Given the description of an element on the screen output the (x, y) to click on. 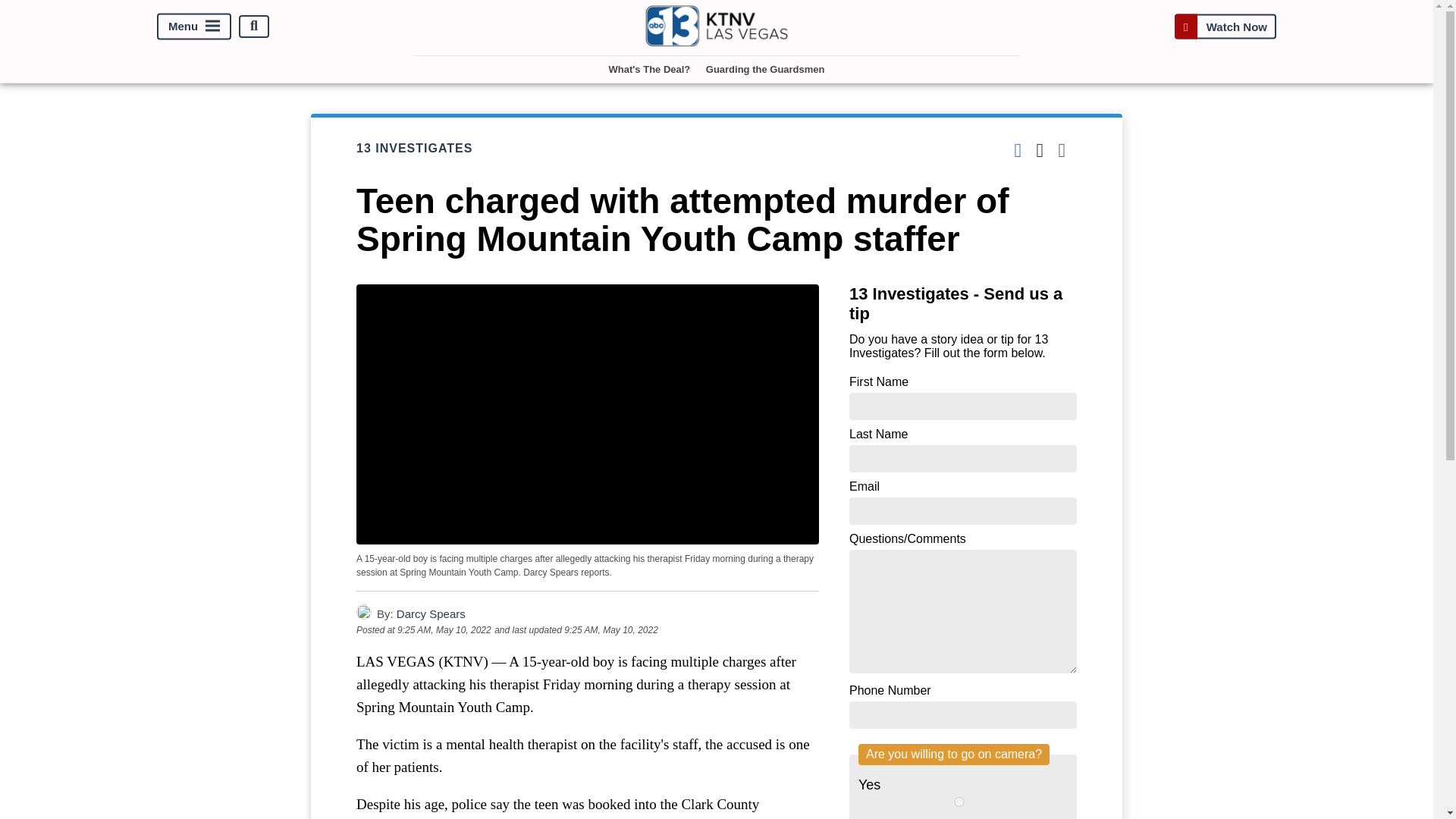
yes (959, 801)
Watch Now (1224, 25)
Menu (194, 26)
